Given the description of an element on the screen output the (x, y) to click on. 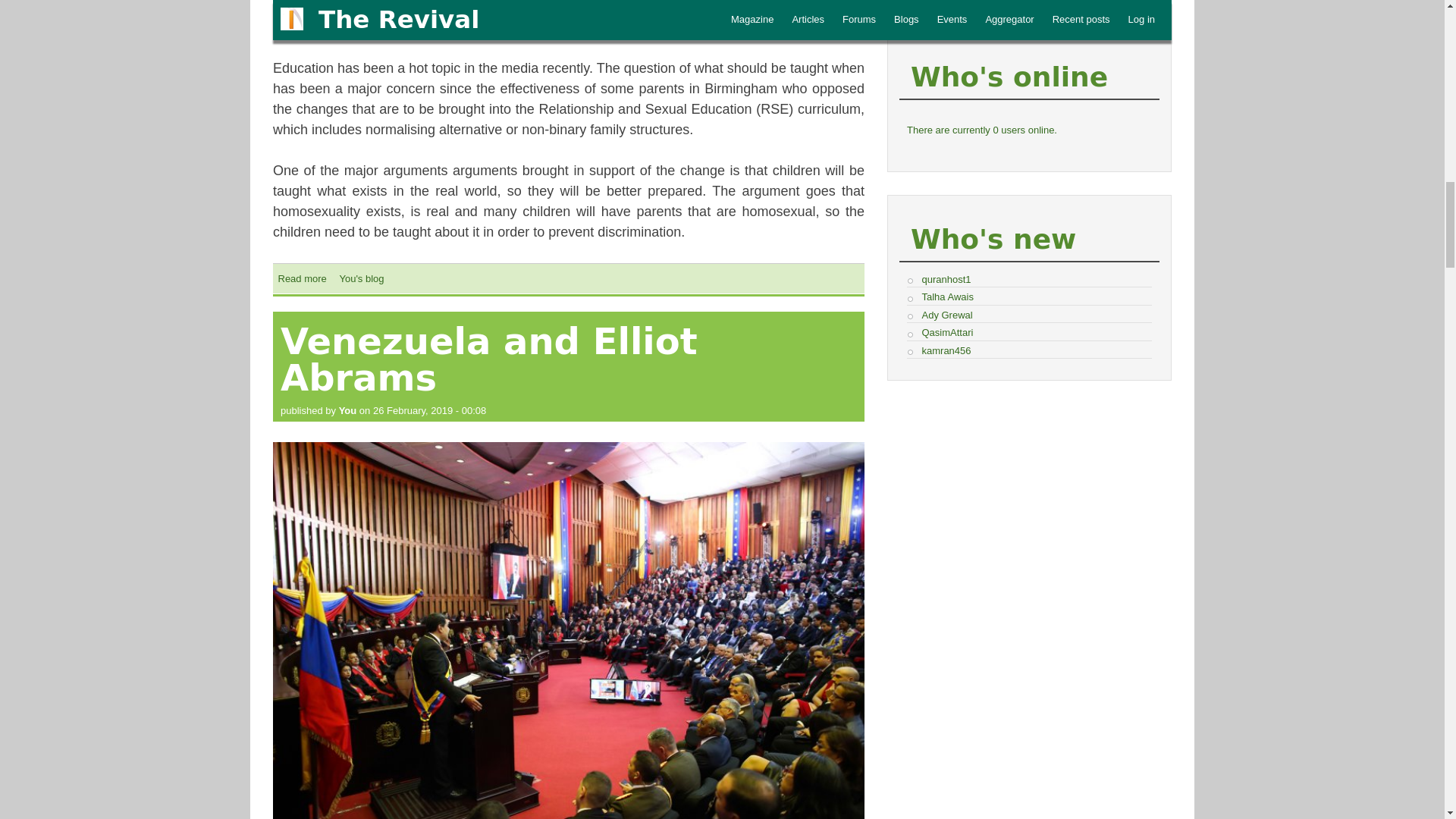
Child drawing on paper (568, 18)
Relationships, Sexual Education and the Santa Clause (302, 278)
You's blog (361, 278)
You (347, 410)
Read You's latest blog entries. (361, 278)
Venezuela and Elliot Abrams (489, 359)
